Given the description of an element on the screen output the (x, y) to click on. 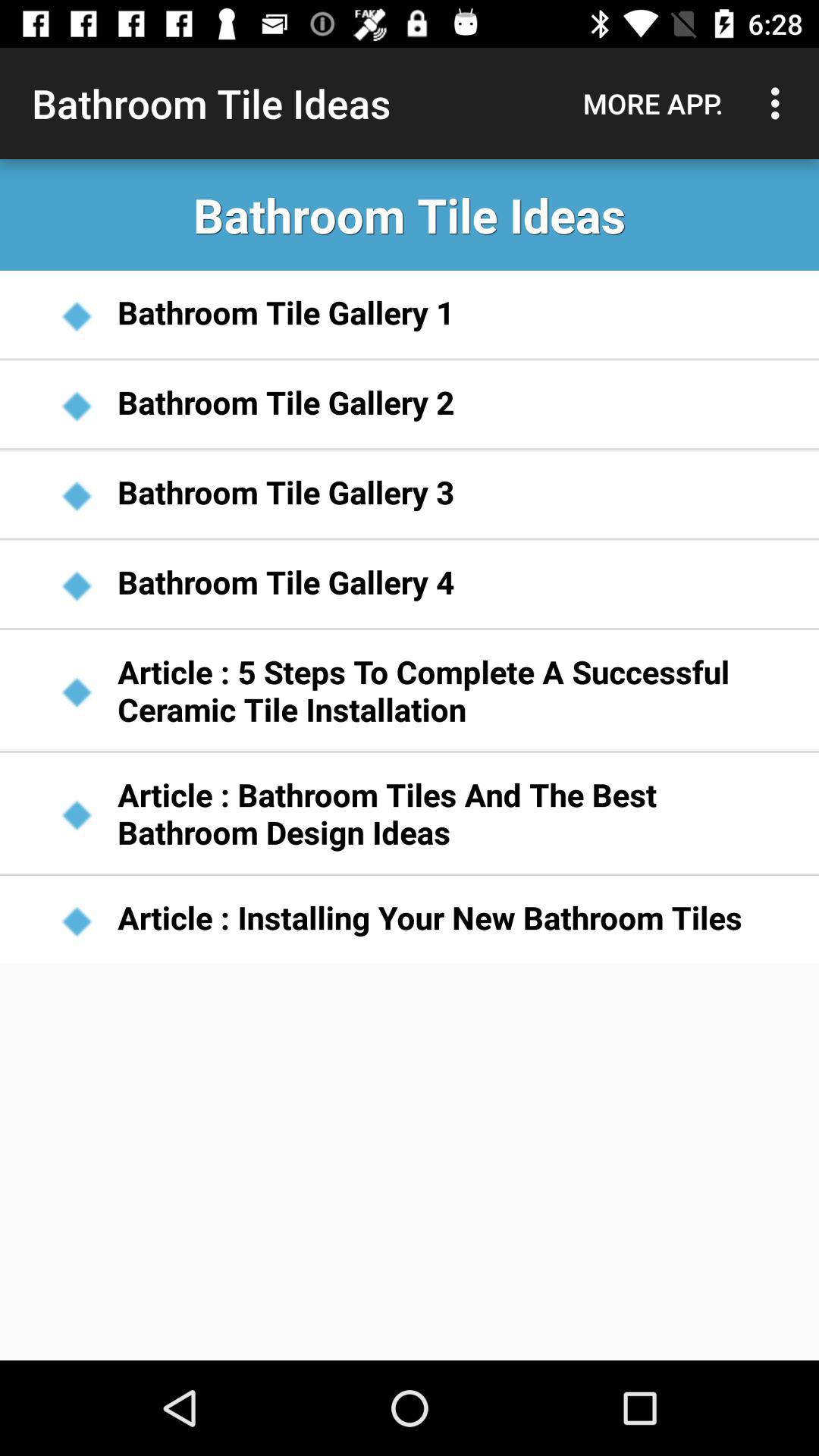
choose more app. item (653, 103)
